Given the description of an element on the screen output the (x, y) to click on. 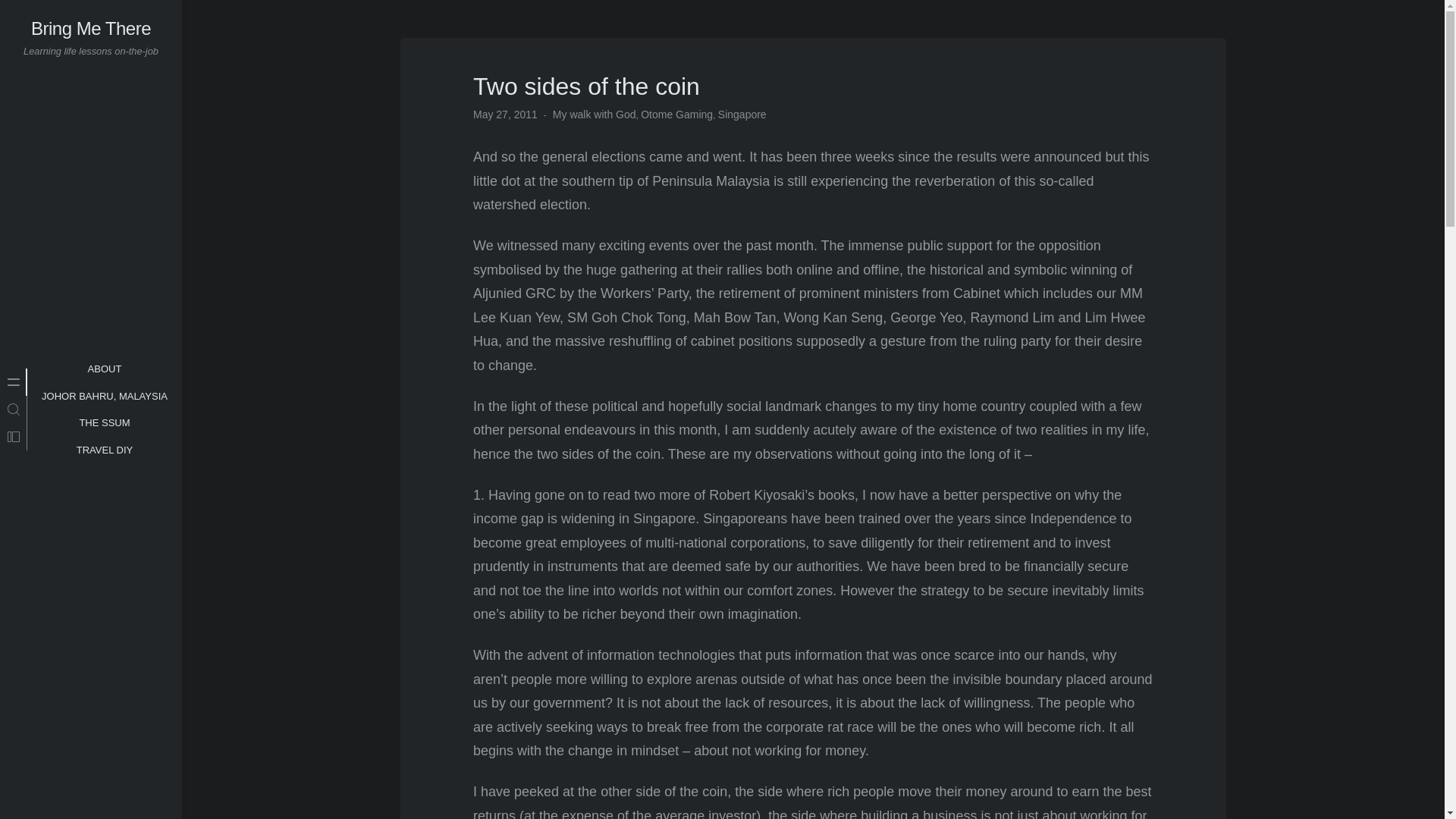
THE SSUM (103, 423)
JOHOR BAHRU, MALAYSIA (104, 409)
TRAVEL DIY (104, 396)
Bring Me There (104, 450)
ABOUT (90, 28)
